Given the description of an element on the screen output the (x, y) to click on. 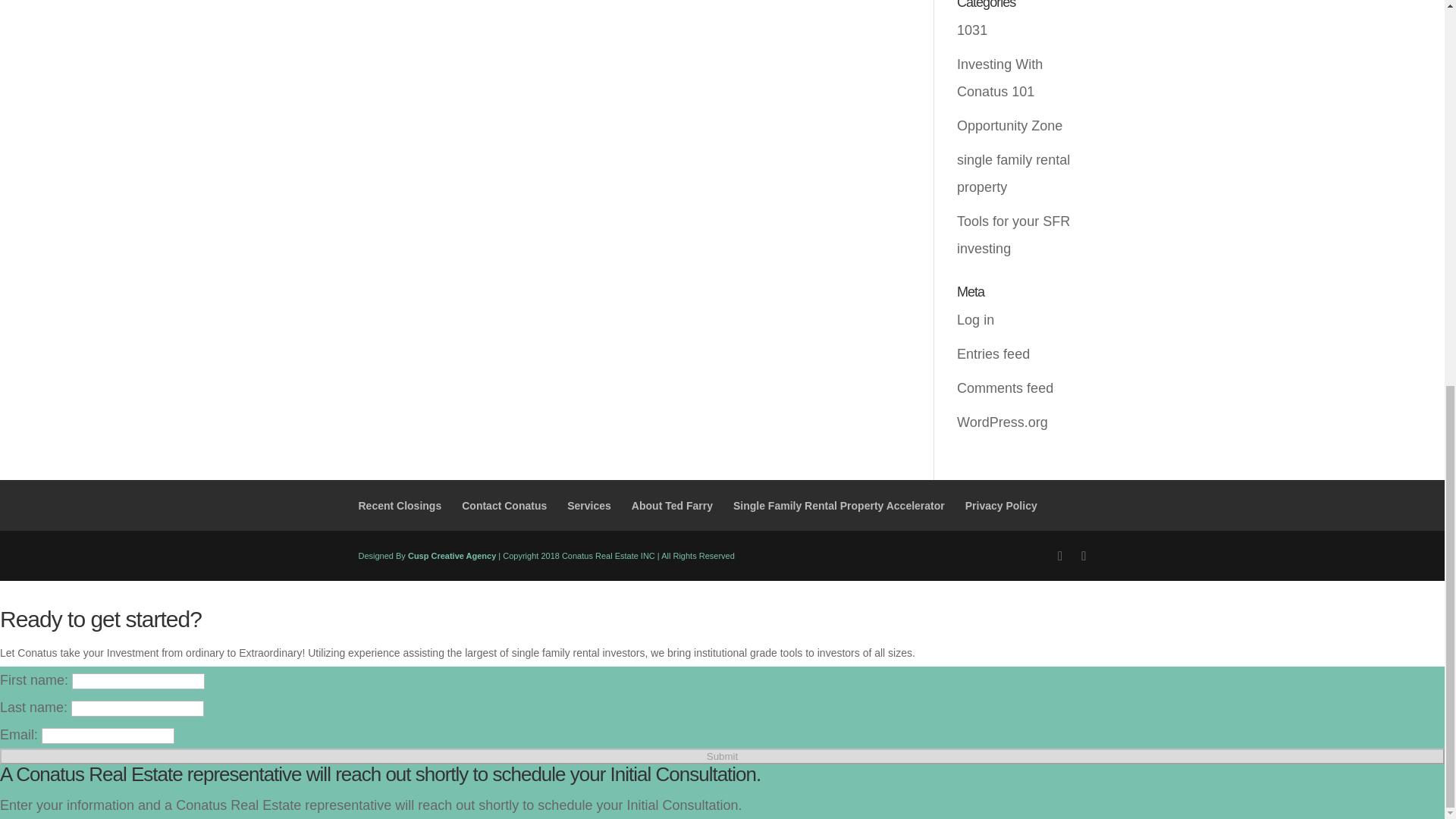
Investing With Conatus 101 (999, 77)
1031 (971, 29)
Log in (975, 319)
Comments feed (1004, 387)
WordPress.org (1002, 421)
Entries feed (992, 353)
Opportunity Zone (1009, 125)
Recent Closings (399, 505)
Services (589, 505)
Contact Conatus (504, 505)
